Given the description of an element on the screen output the (x, y) to click on. 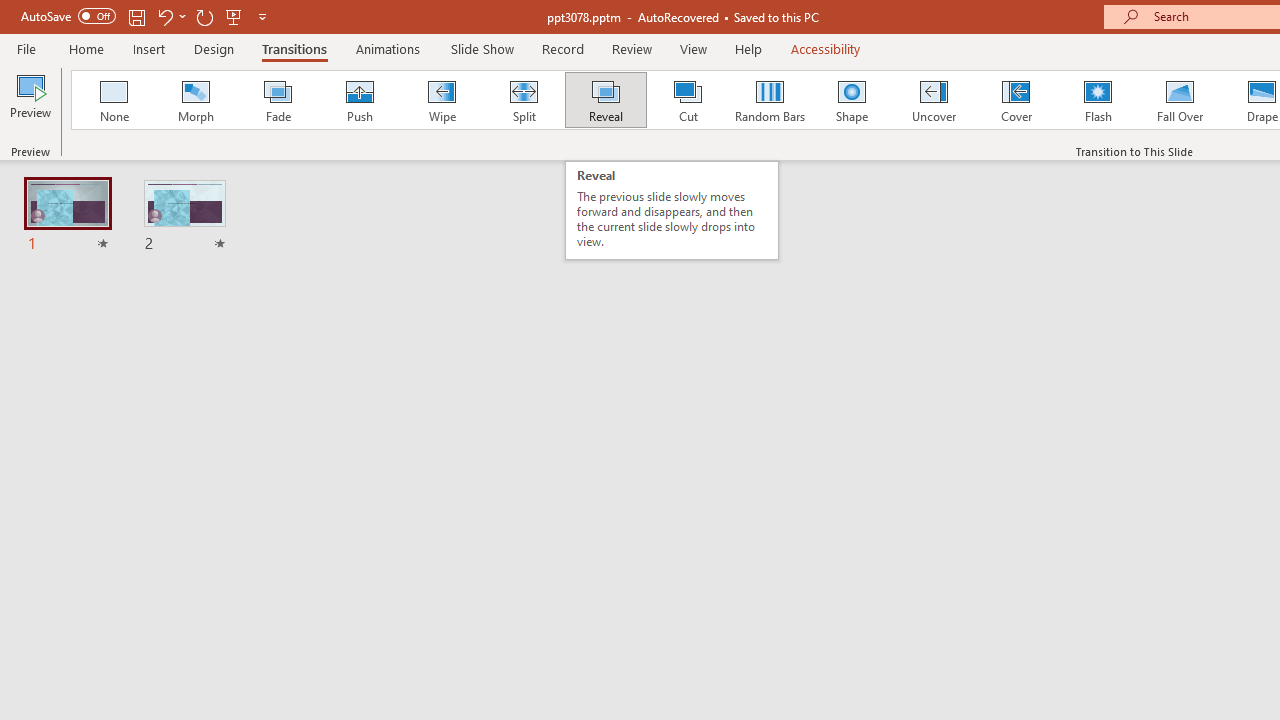
Reveal (605, 100)
Flash (1098, 100)
Uncover (934, 100)
Fall Over (1180, 100)
